Given the description of an element on the screen output the (x, y) to click on. 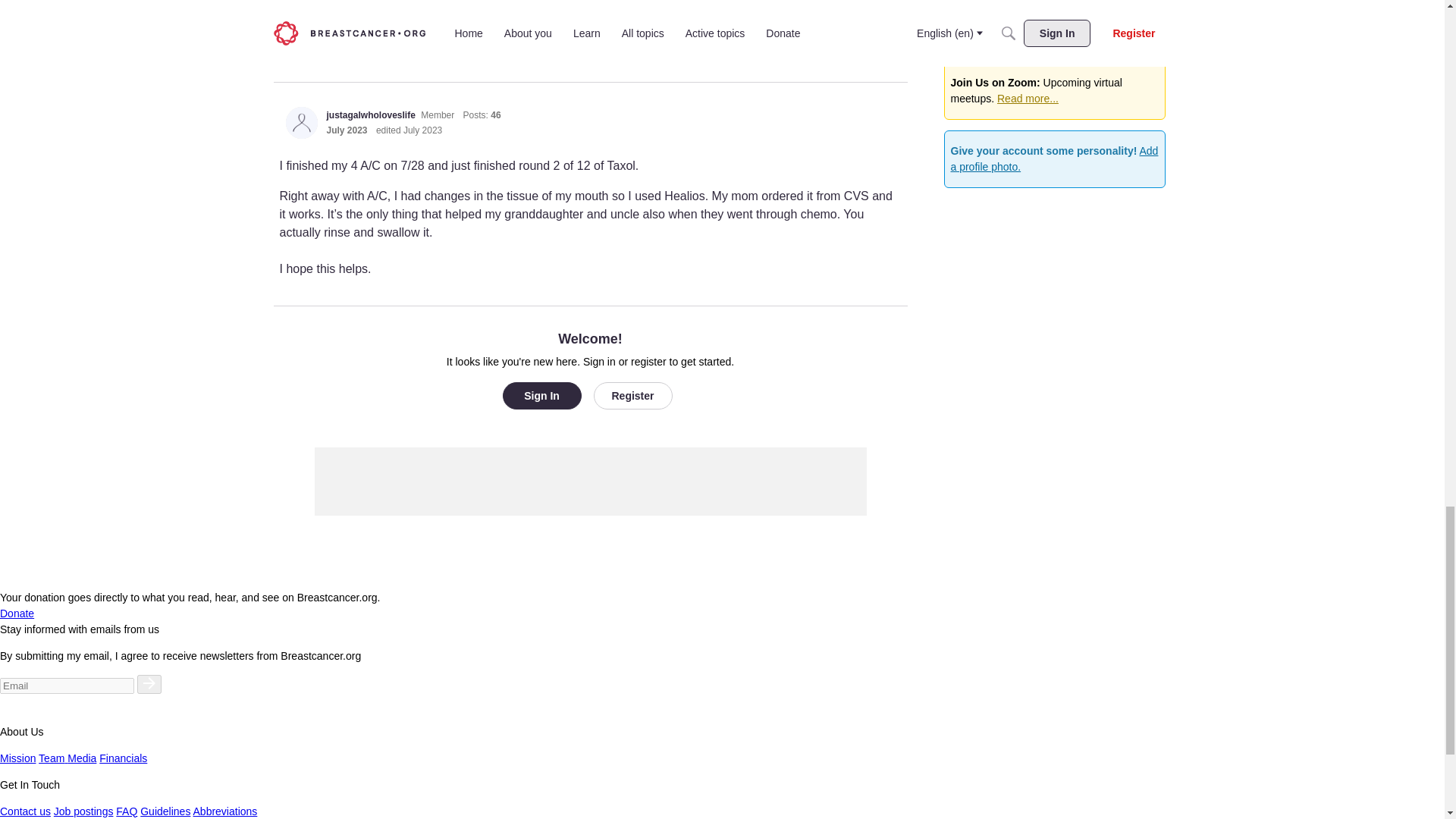
justagalwholoveslife (301, 122)
July 23, 2023 4:12PM (346, 130)
Sign In (541, 395)
Register (631, 395)
Edited July 24, 2023 2:50PM by justagalwholoveslife. (408, 130)
